Given the description of an element on the screen output the (x, y) to click on. 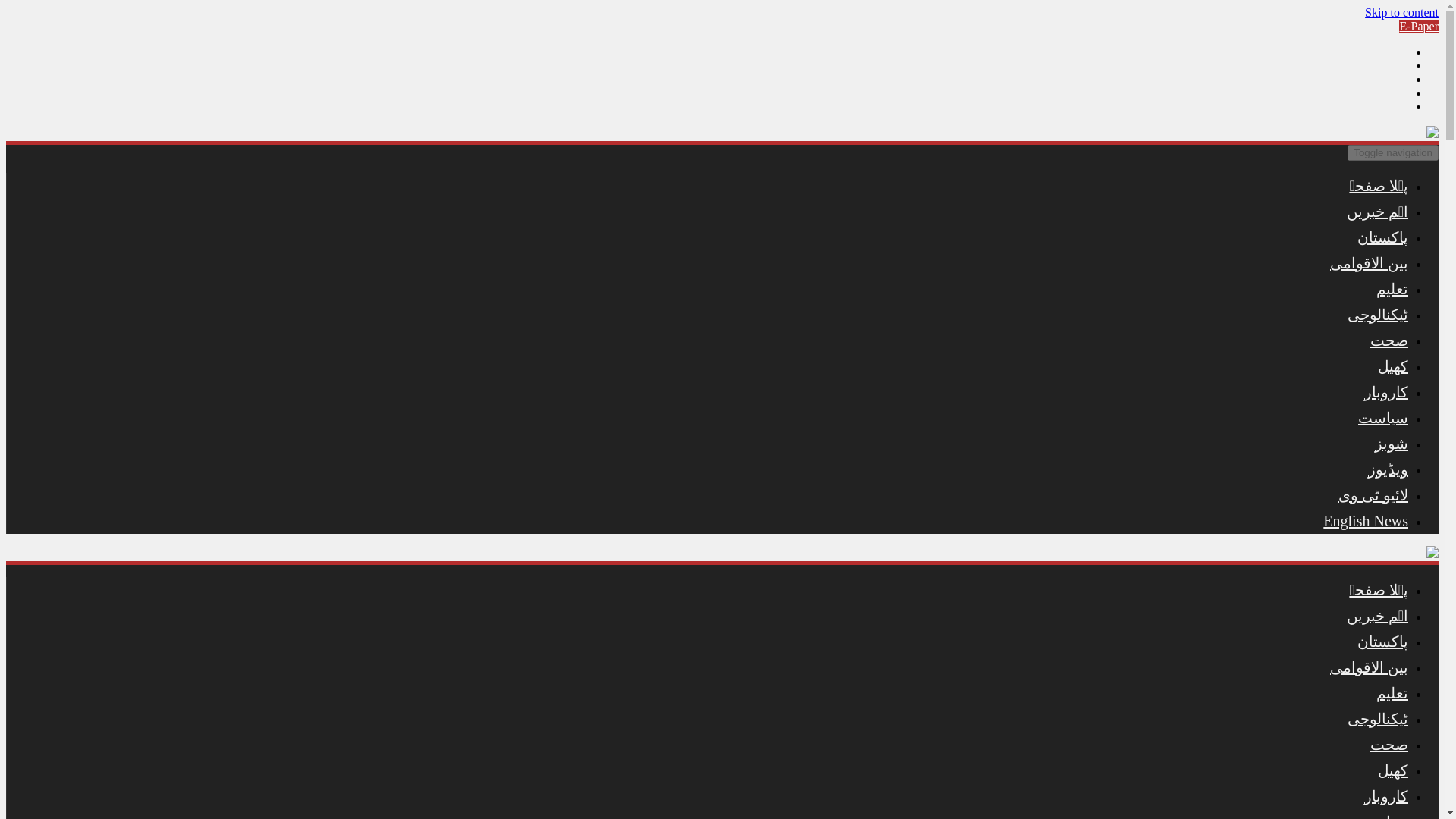
English News (1365, 520)
